Given the description of an element on the screen output the (x, y) to click on. 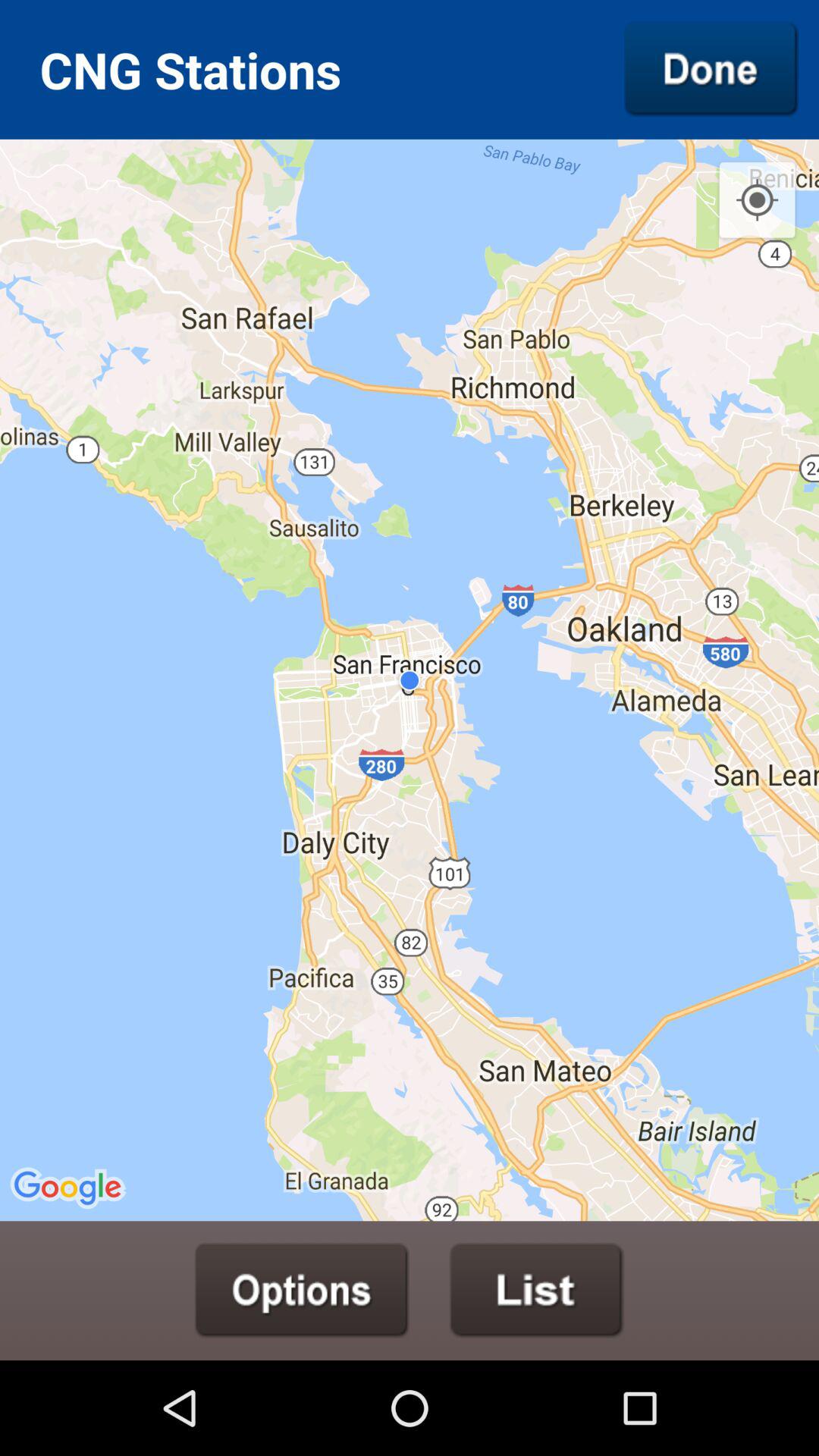
done button (711, 69)
